Given the description of an element on the screen output the (x, y) to click on. 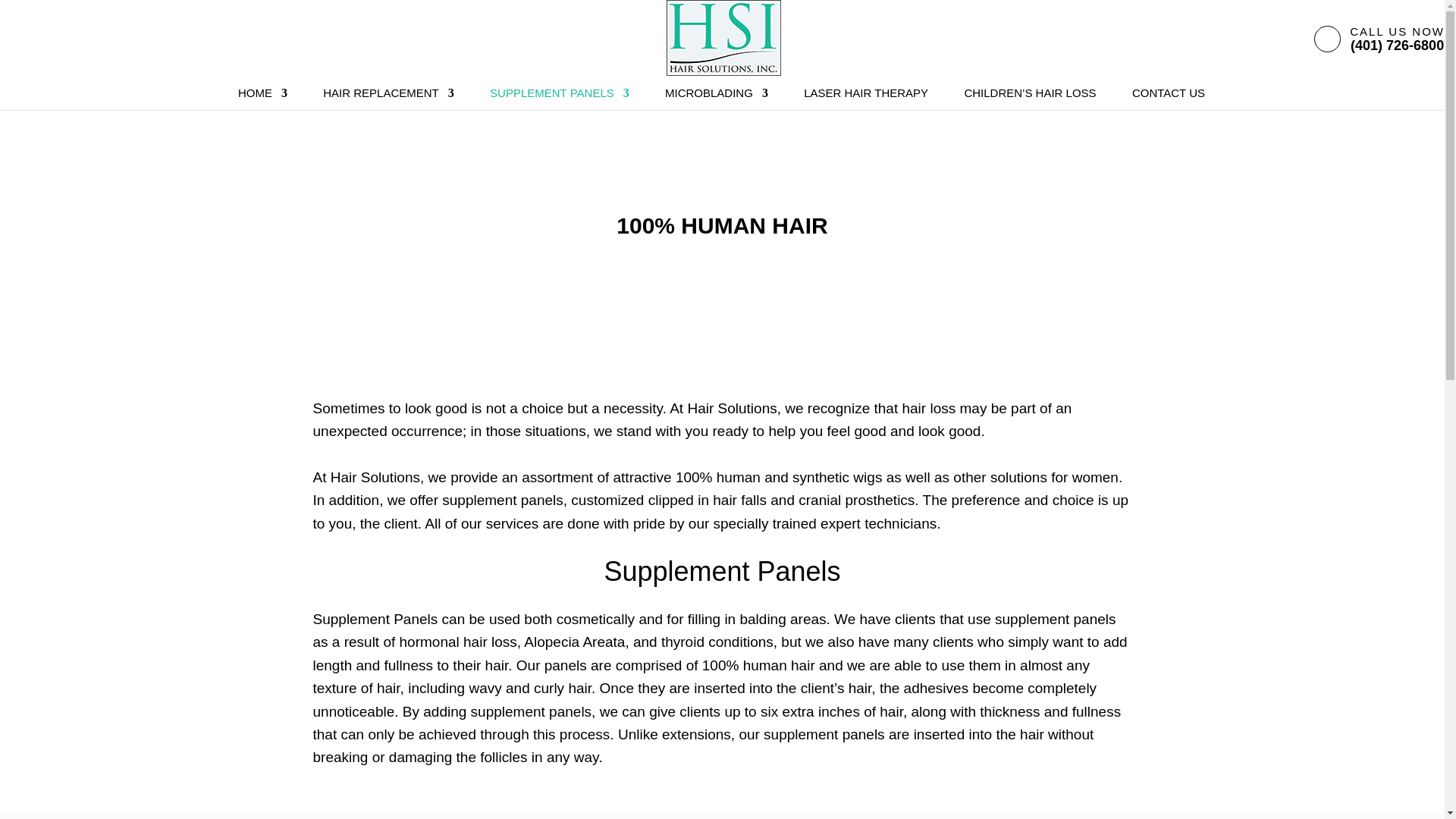
HAIR REPLACEMENT (388, 98)
HOME (262, 98)
MICROBLADING (716, 98)
LASER HAIR THERAPY (865, 98)
CONTACT US (1168, 98)
SUPPLEMENT PANELS (558, 98)
